Given the description of an element on the screen output the (x, y) to click on. 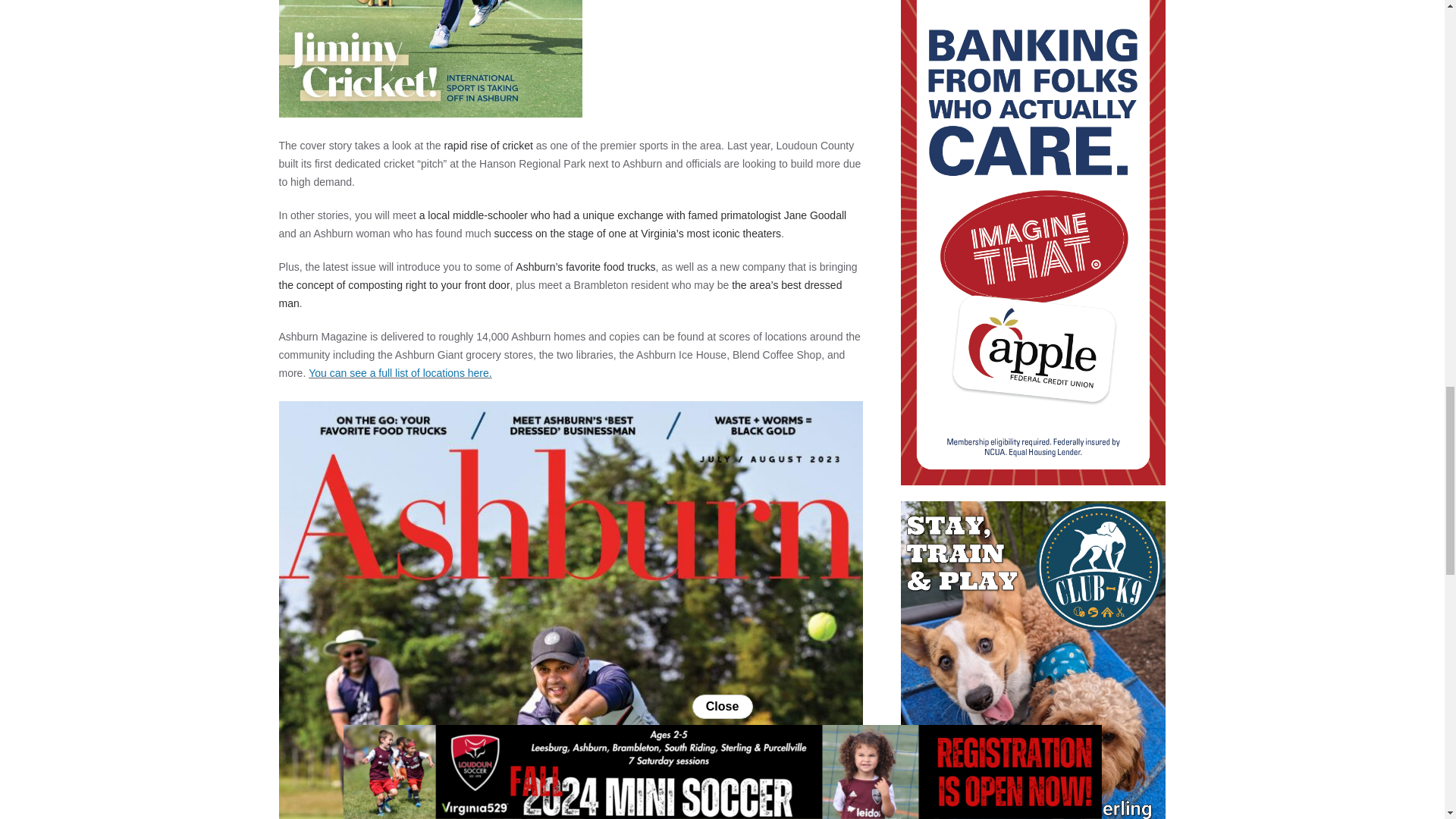
You can see a full list of locations here. (400, 372)
